Given the description of an element on the screen output the (x, y) to click on. 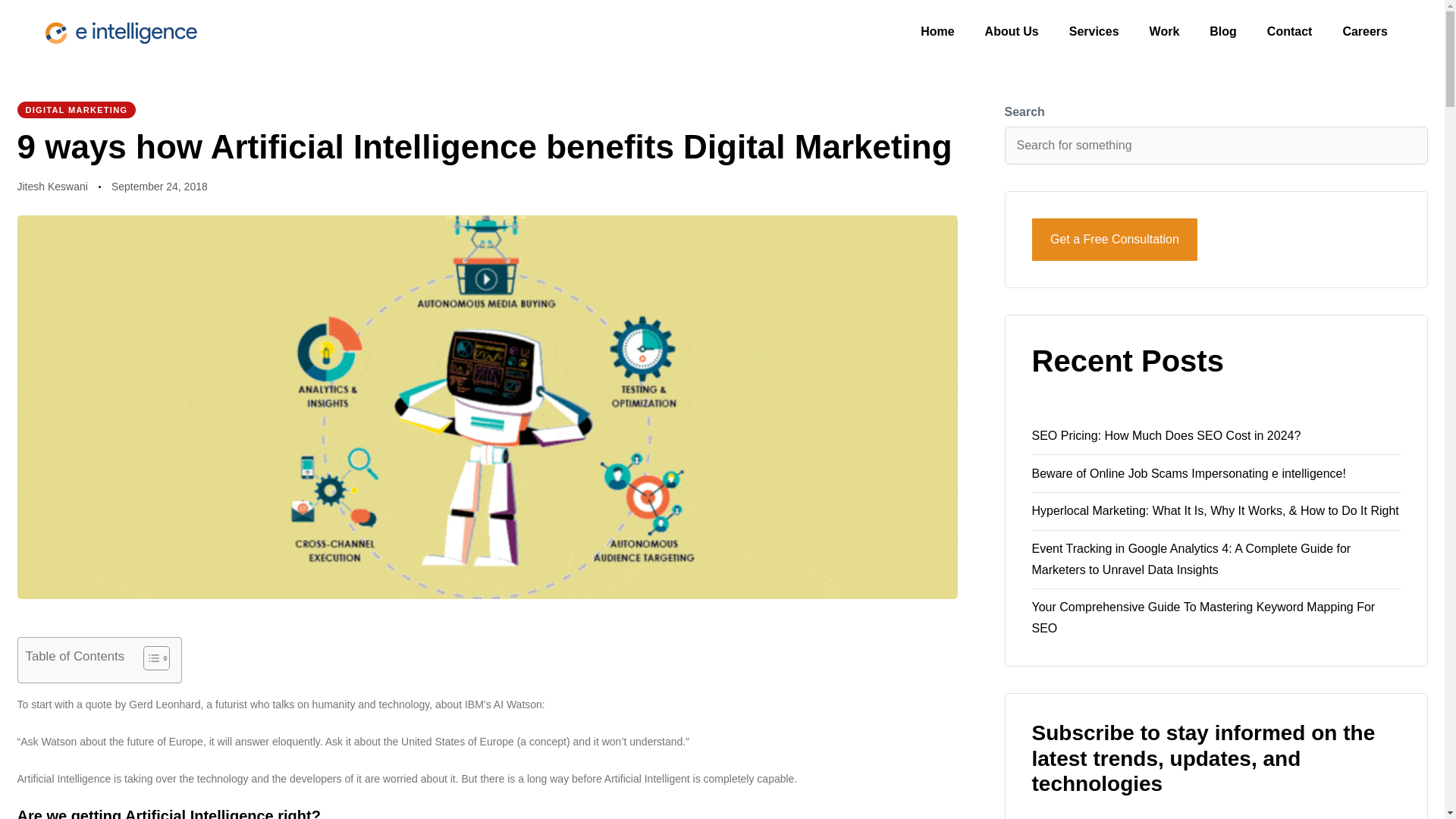
Blog (1222, 31)
Careers (1364, 31)
Contact (1289, 31)
Home (937, 31)
Posts by Jitesh Keswani (51, 186)
Services (1094, 31)
About Us (1011, 31)
Work (1164, 31)
